Given the description of an element on the screen output the (x, y) to click on. 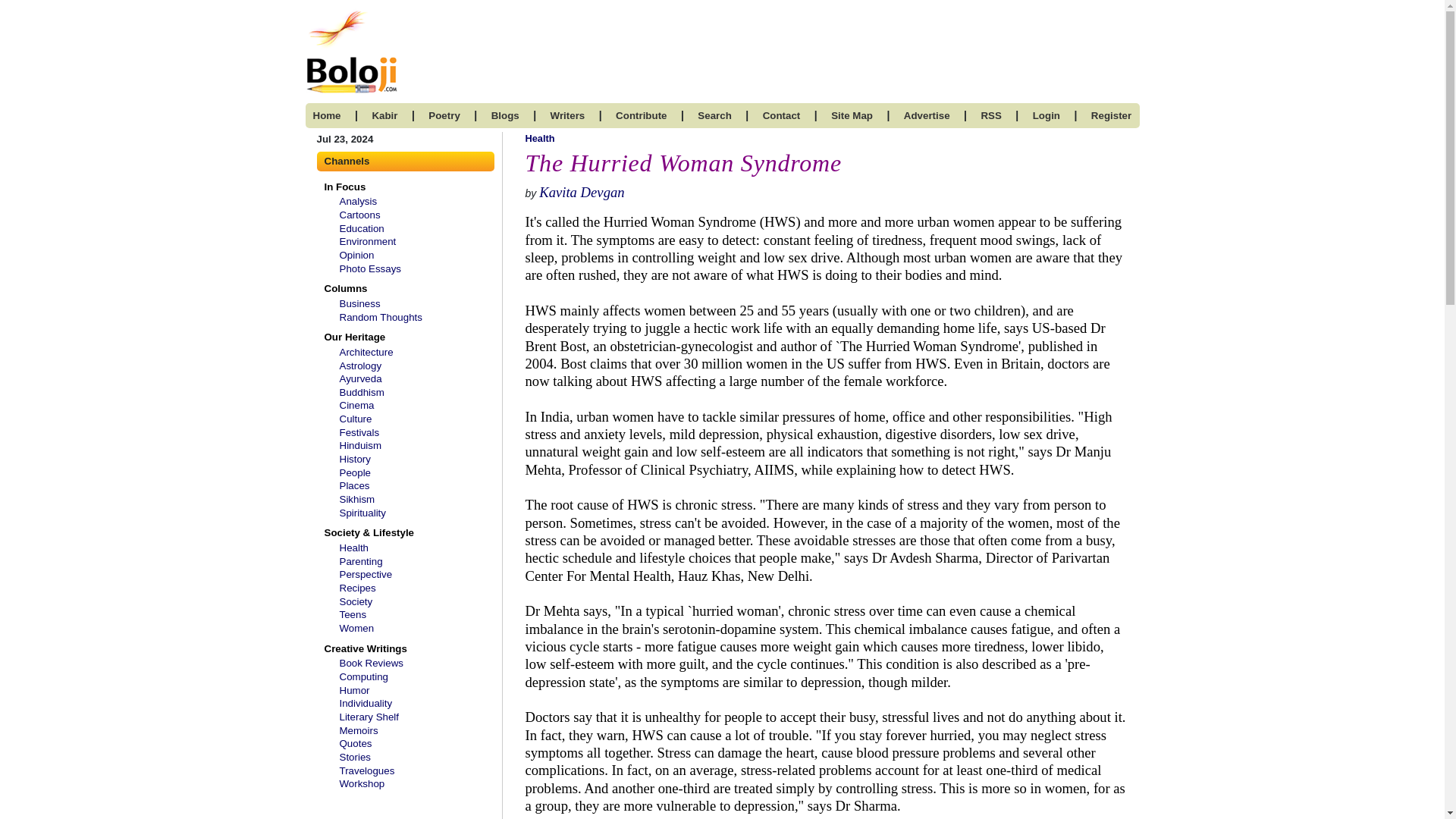
Register (1110, 115)
Cinema (356, 405)
In Focus (341, 186)
RSS (990, 115)
Advertise (927, 115)
Blogs (505, 115)
Site Map (851, 115)
Analysis (358, 201)
Poetry (444, 115)
Environment (367, 241)
Random Thoughts (380, 317)
Kabir (384, 115)
History (355, 459)
Astrology (360, 365)
Contact (781, 115)
